Given the description of an element on the screen output the (x, y) to click on. 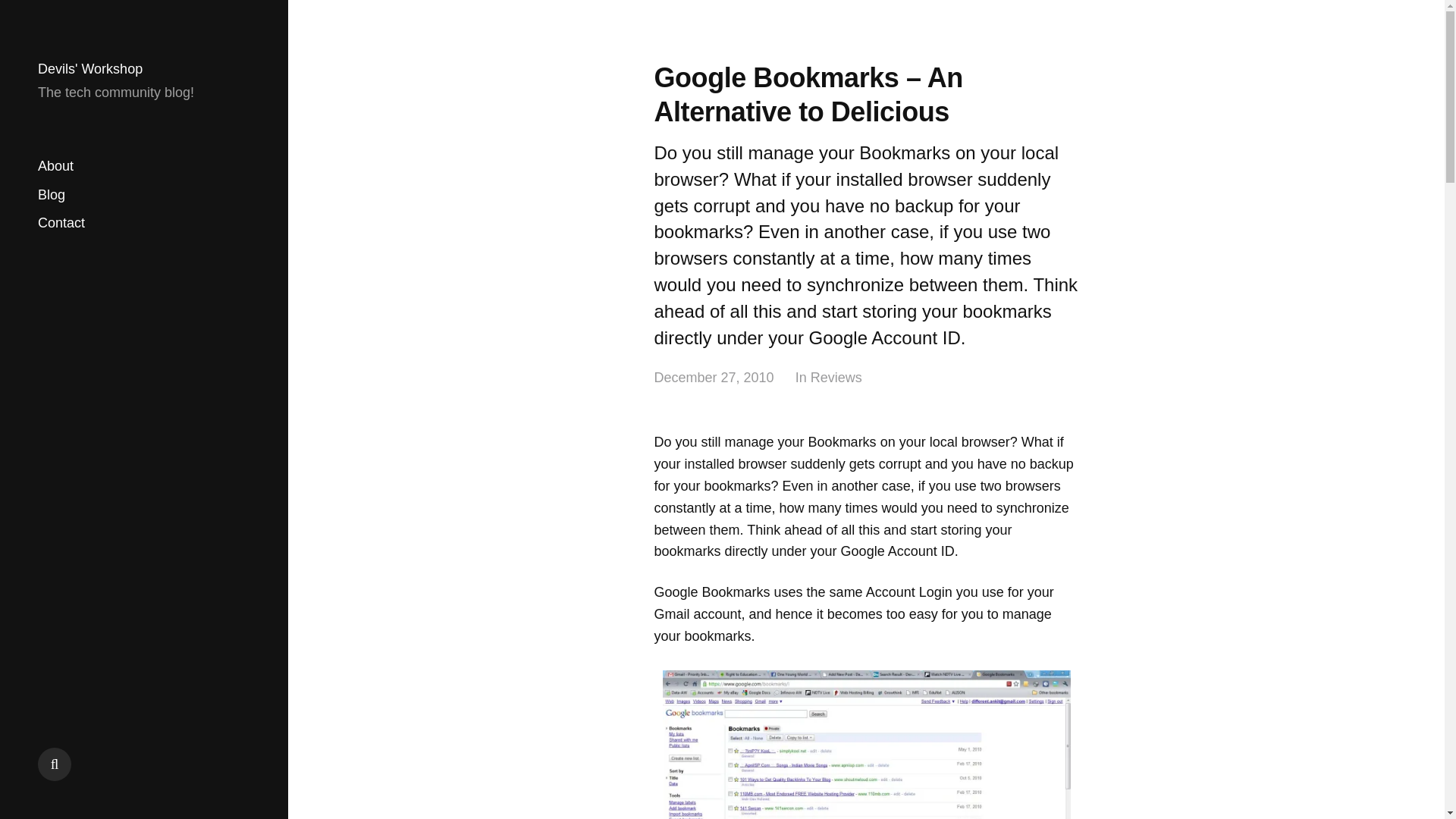
Contact (60, 222)
About (55, 166)
Blog (51, 194)
December 27, 2010 (713, 377)
Reviews (835, 377)
Devils' Workshop (89, 68)
Google Bookmarks (866, 744)
